Given the description of an element on the screen output the (x, y) to click on. 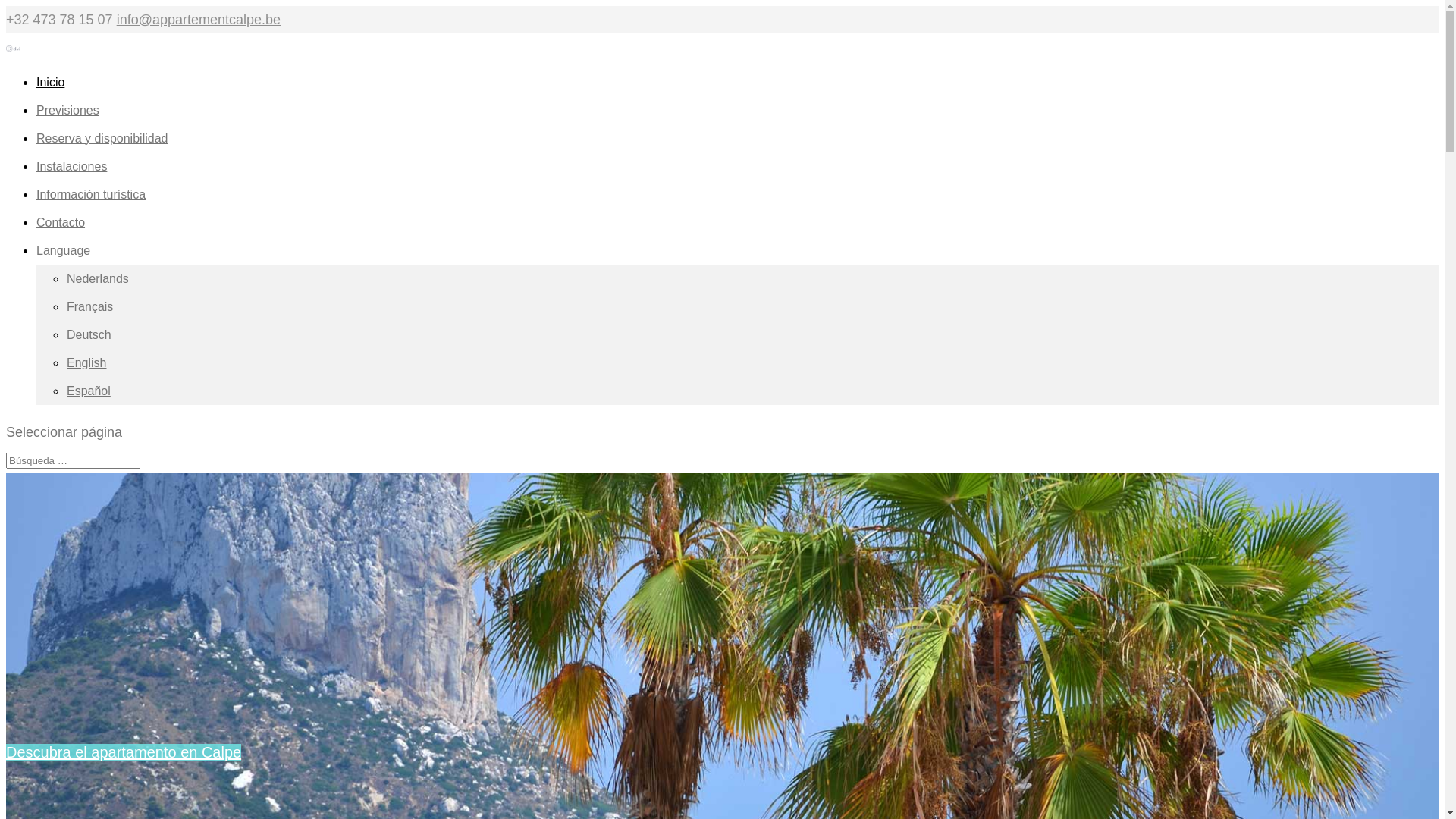
Contacto Element type: text (60, 233)
Buscar: Element type: hover (73, 460)
Descubra el apartamento en Calpe Element type: text (123, 751)
info@appartementcalpe.be Element type: text (198, 19)
Language Element type: text (63, 261)
Previsiones Element type: text (67, 120)
Instalaciones Element type: text (71, 177)
English Element type: text (86, 362)
Deutsch Element type: text (88, 334)
Nederlands Element type: text (97, 278)
Reserva y disponibilidad Element type: text (101, 148)
Inicio Element type: text (50, 92)
